Given the description of an element on the screen output the (x, y) to click on. 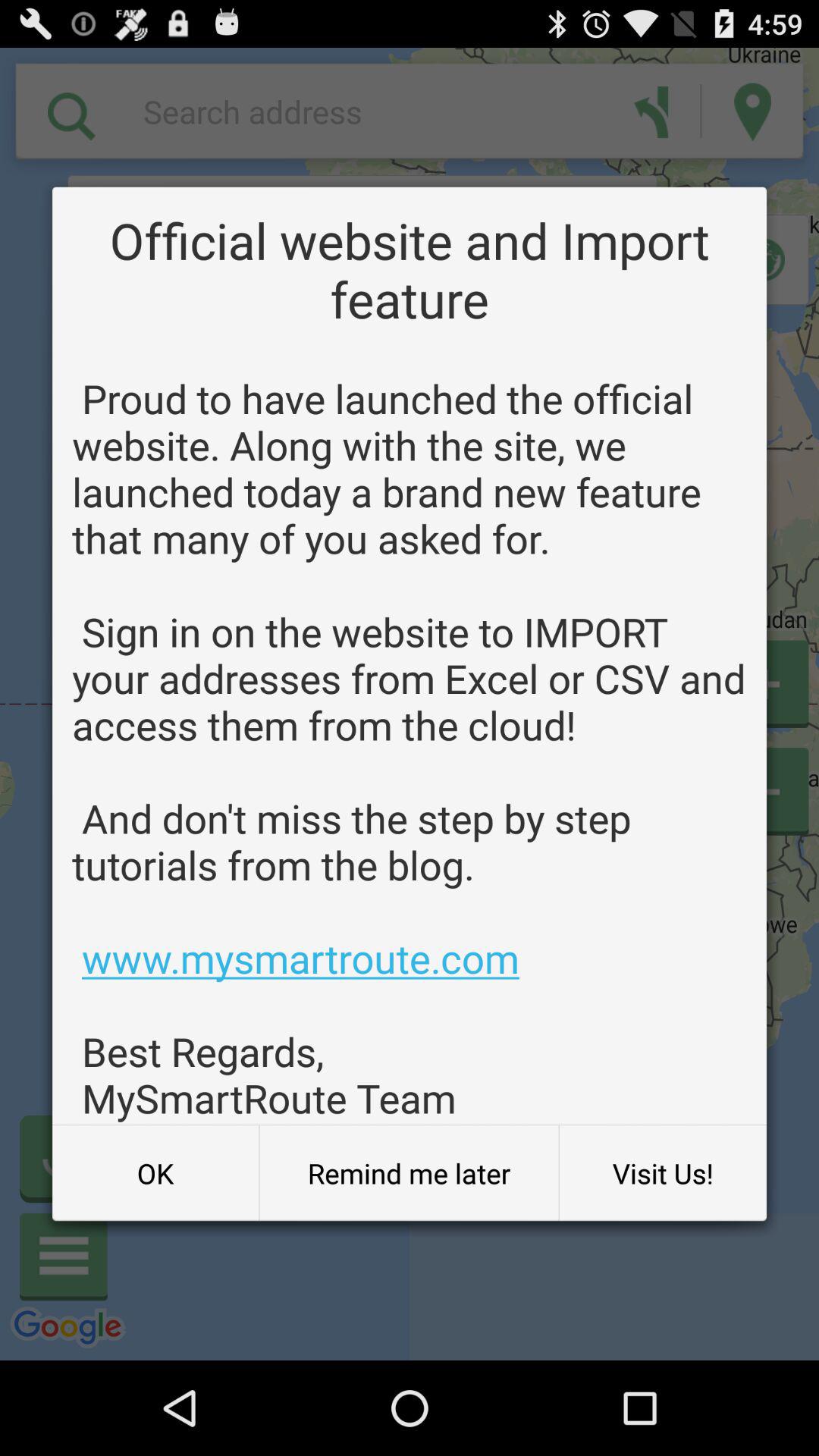
launch the remind me later button (408, 1173)
